Given the description of an element on the screen output the (x, y) to click on. 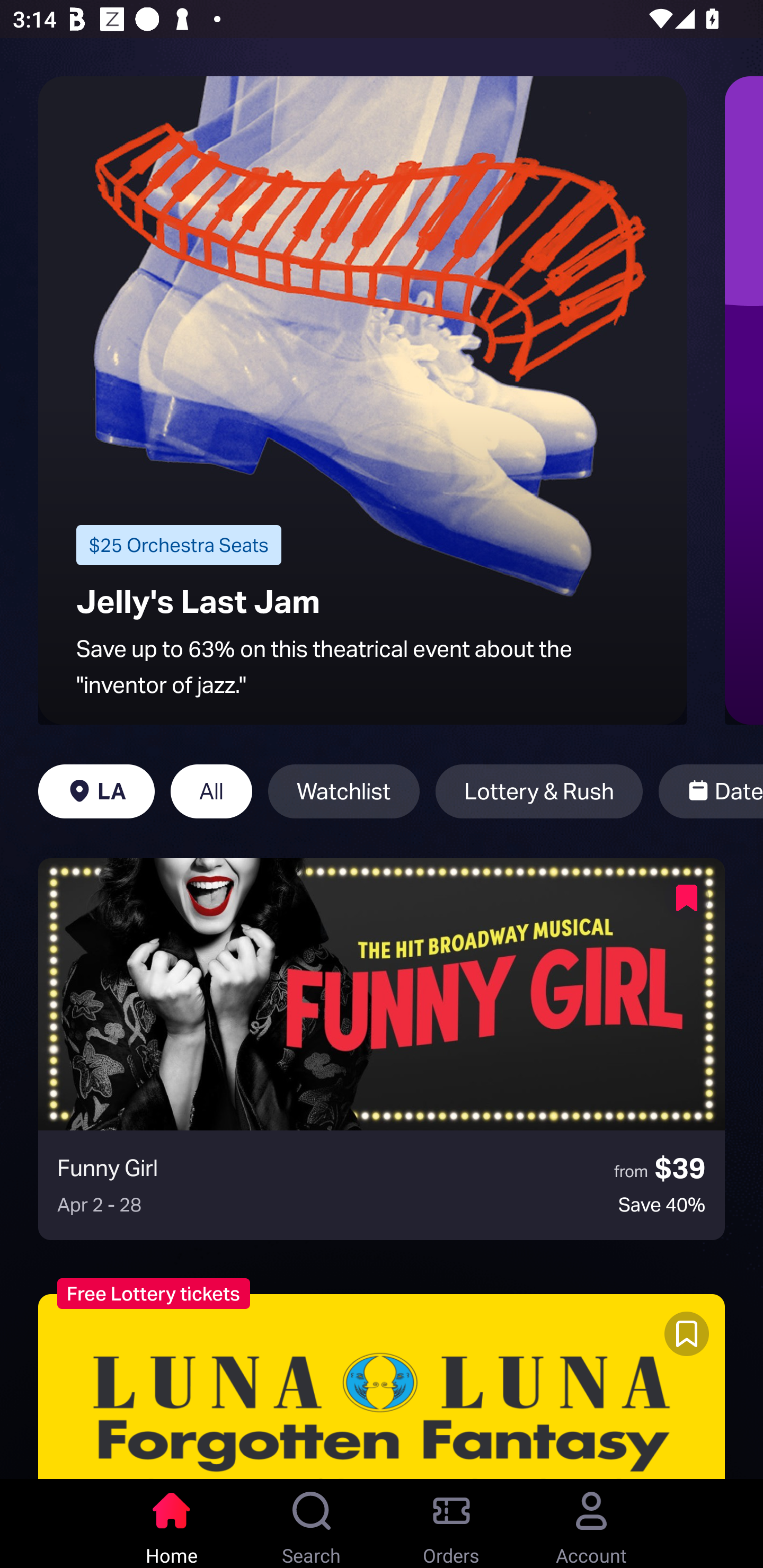
LA (96, 791)
All (211, 791)
Watchlist (343, 791)
Lottery & Rush (538, 791)
Funny Girl from $39 Apr 2 - 28 Save 40% (381, 1048)
Search (311, 1523)
Orders (451, 1523)
Account (591, 1523)
